Given the description of an element on the screen output the (x, y) to click on. 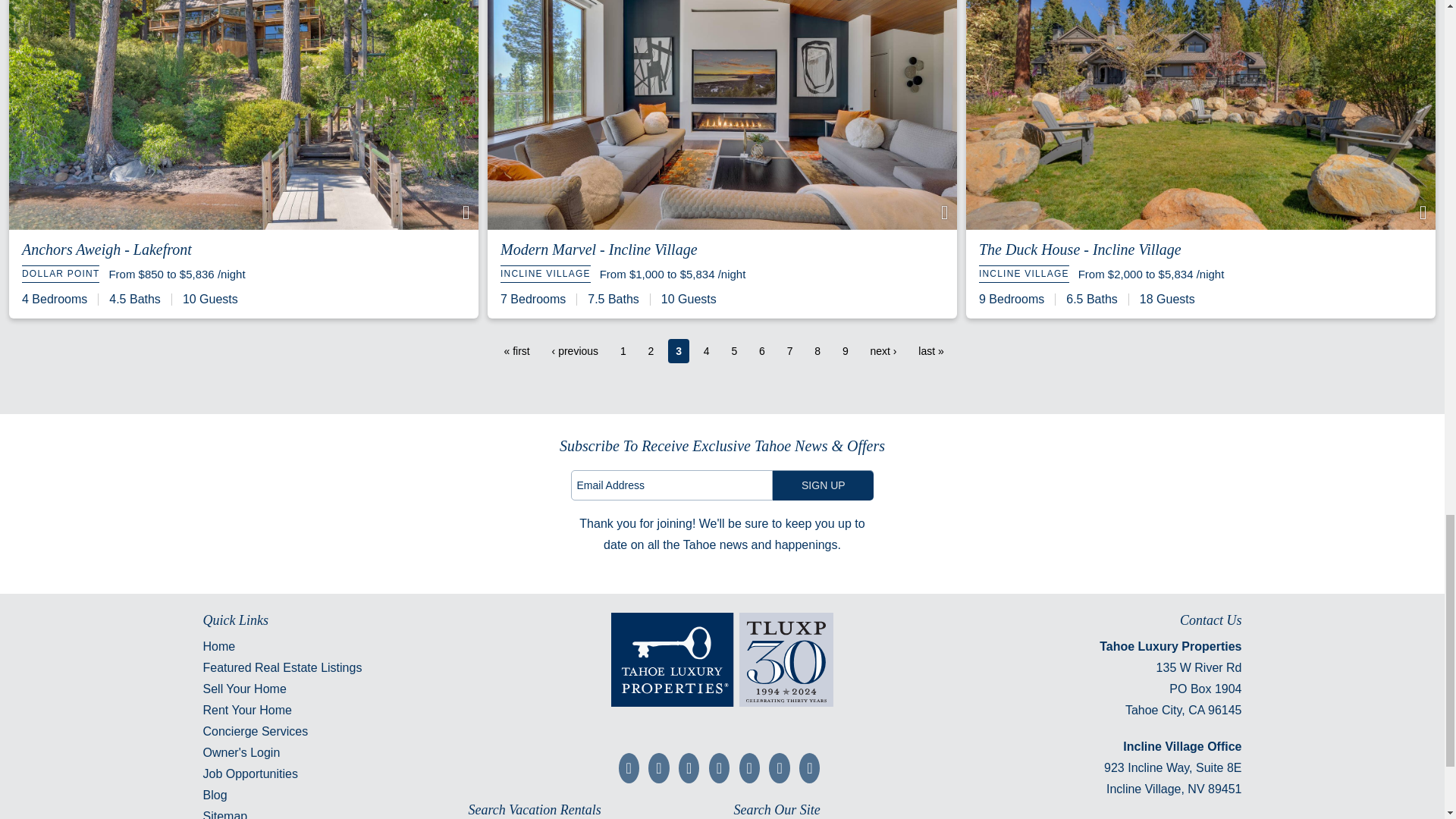
Go to previous page (574, 351)
Go to next page (883, 351)
Go to last page (930, 351)
Go to first page (516, 351)
